Given the description of an element on the screen output the (x, y) to click on. 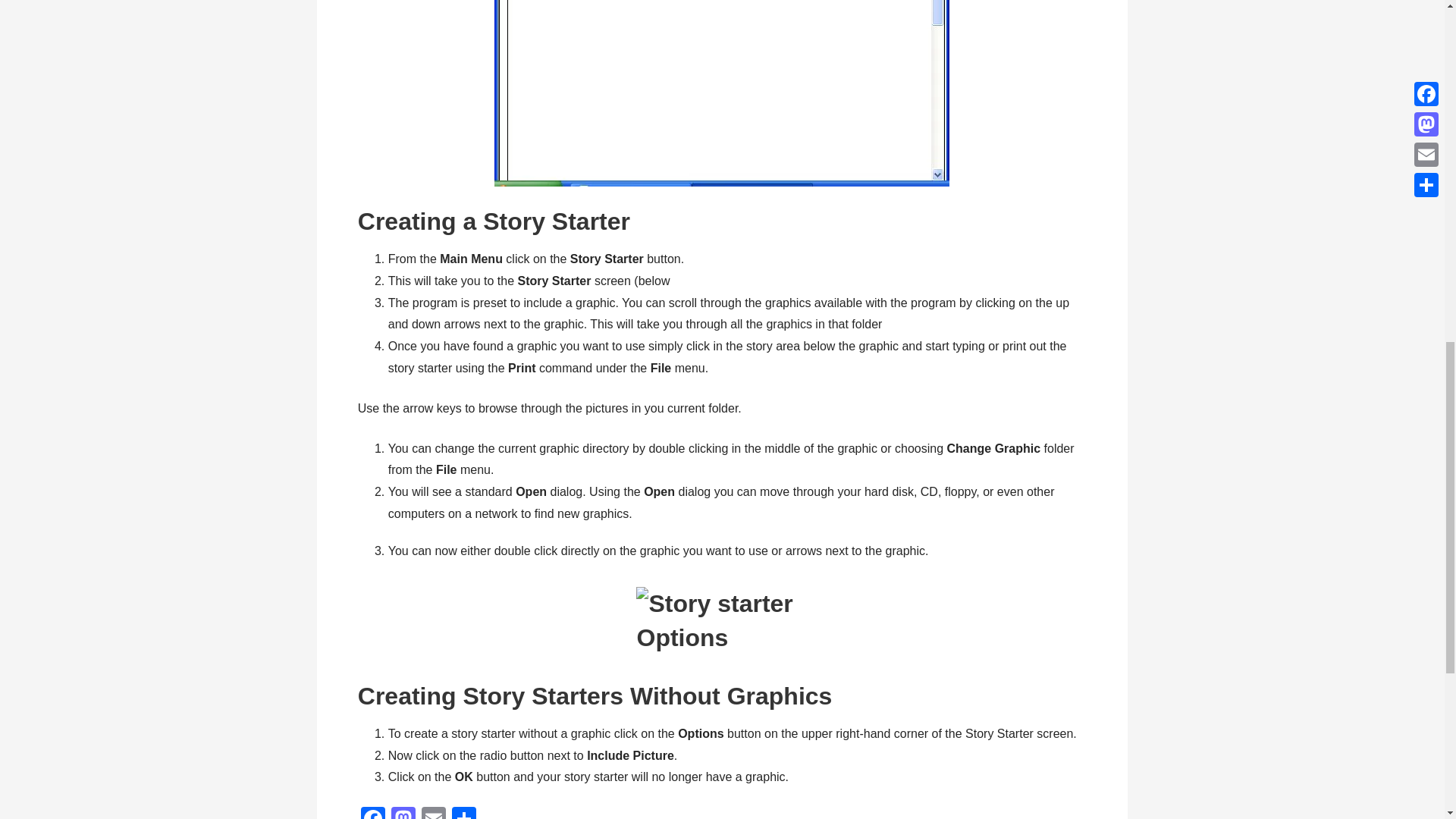
Facebook (373, 812)
Mastodon (403, 812)
Facebook (373, 812)
Email (433, 812)
Mastodon (403, 812)
Share (463, 812)
Email (433, 812)
